Given the description of an element on the screen output the (x, y) to click on. 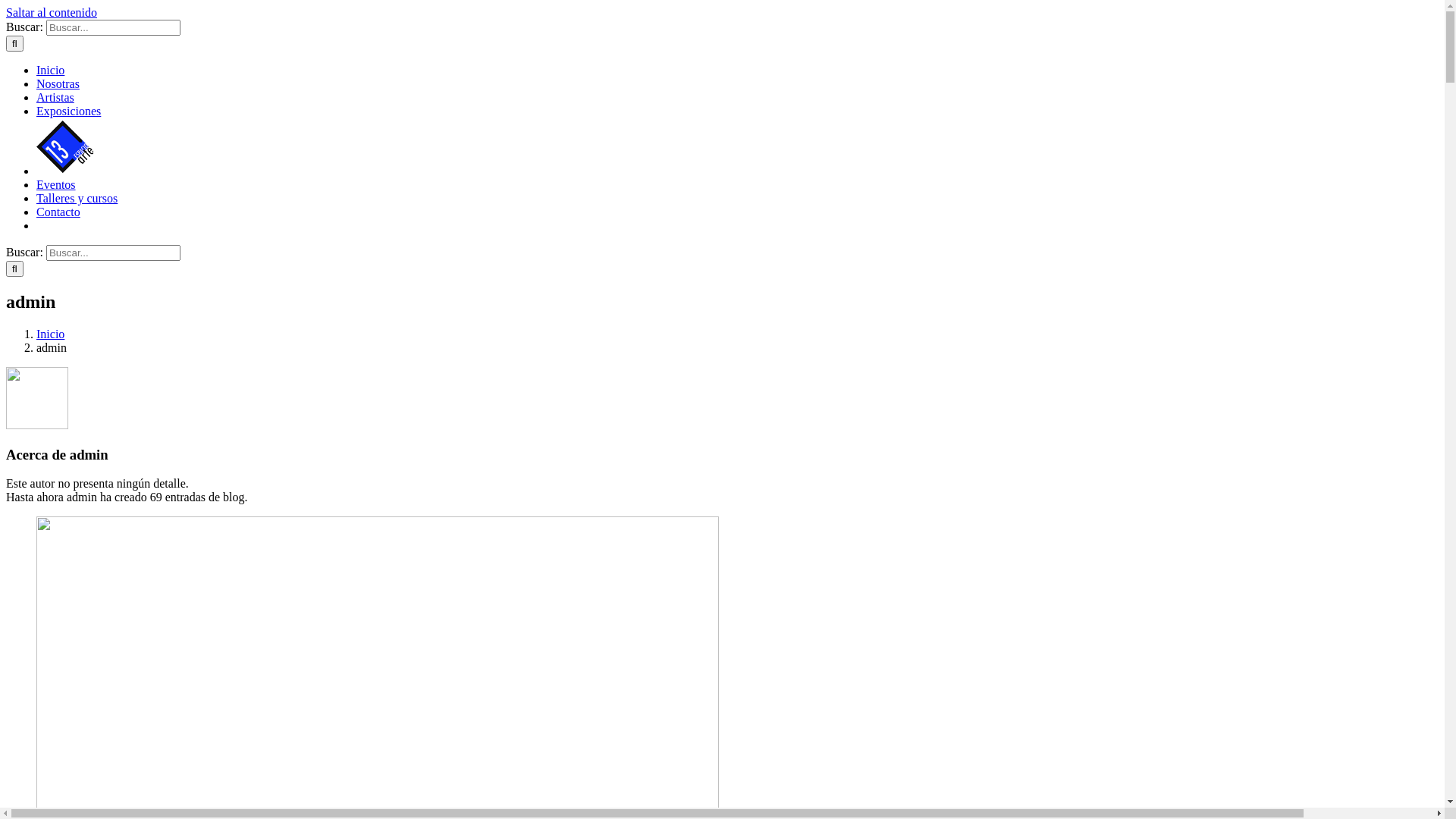
Artistas Element type: text (55, 97)
Eventos Element type: text (55, 184)
Inicio Element type: text (50, 333)
Talleres y cursos Element type: text (76, 197)
Exposiciones Element type: text (68, 110)
Saltar al contenido Element type: text (51, 12)
Inicio Element type: text (50, 69)
Nosotras Element type: text (57, 83)
Contacto Element type: text (58, 211)
